Given the description of an element on the screen output the (x, y) to click on. 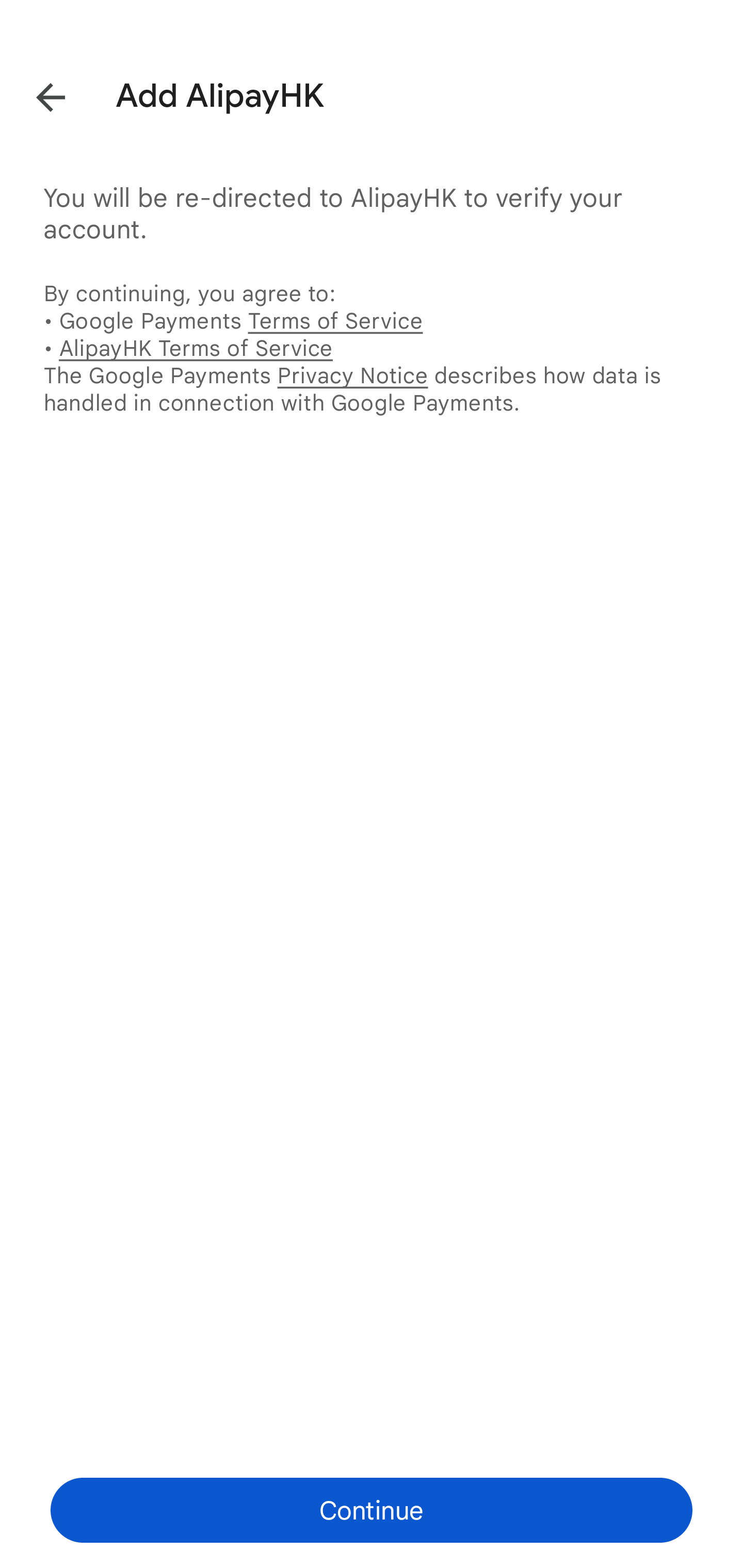
Back (36, 94)
Terms of Service (334, 320)
AlipayHK Terms of Service (195, 347)
Privacy Notice (352, 375)
Continue (371, 1510)
